Given the description of an element on the screen output the (x, y) to click on. 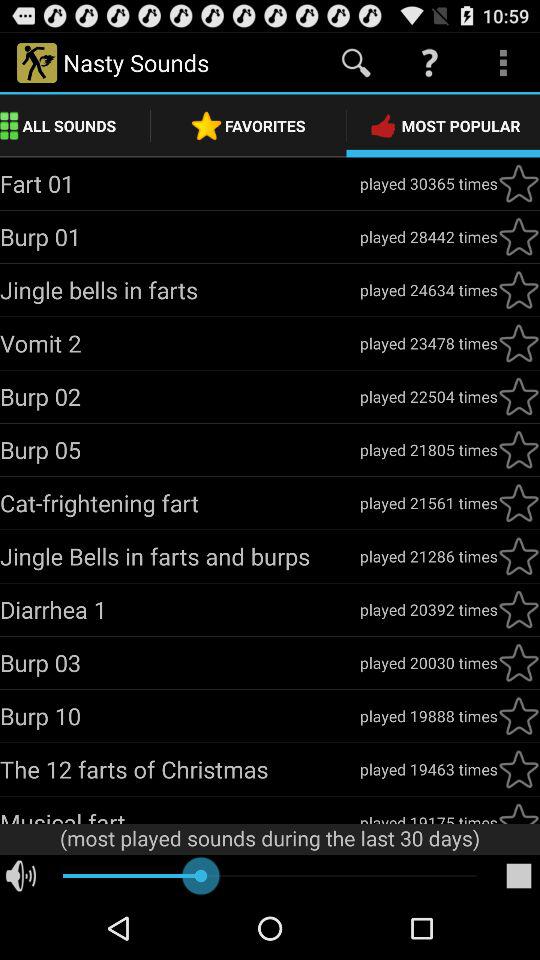
favorite sound (519, 290)
